Given the description of an element on the screen output the (x, y) to click on. 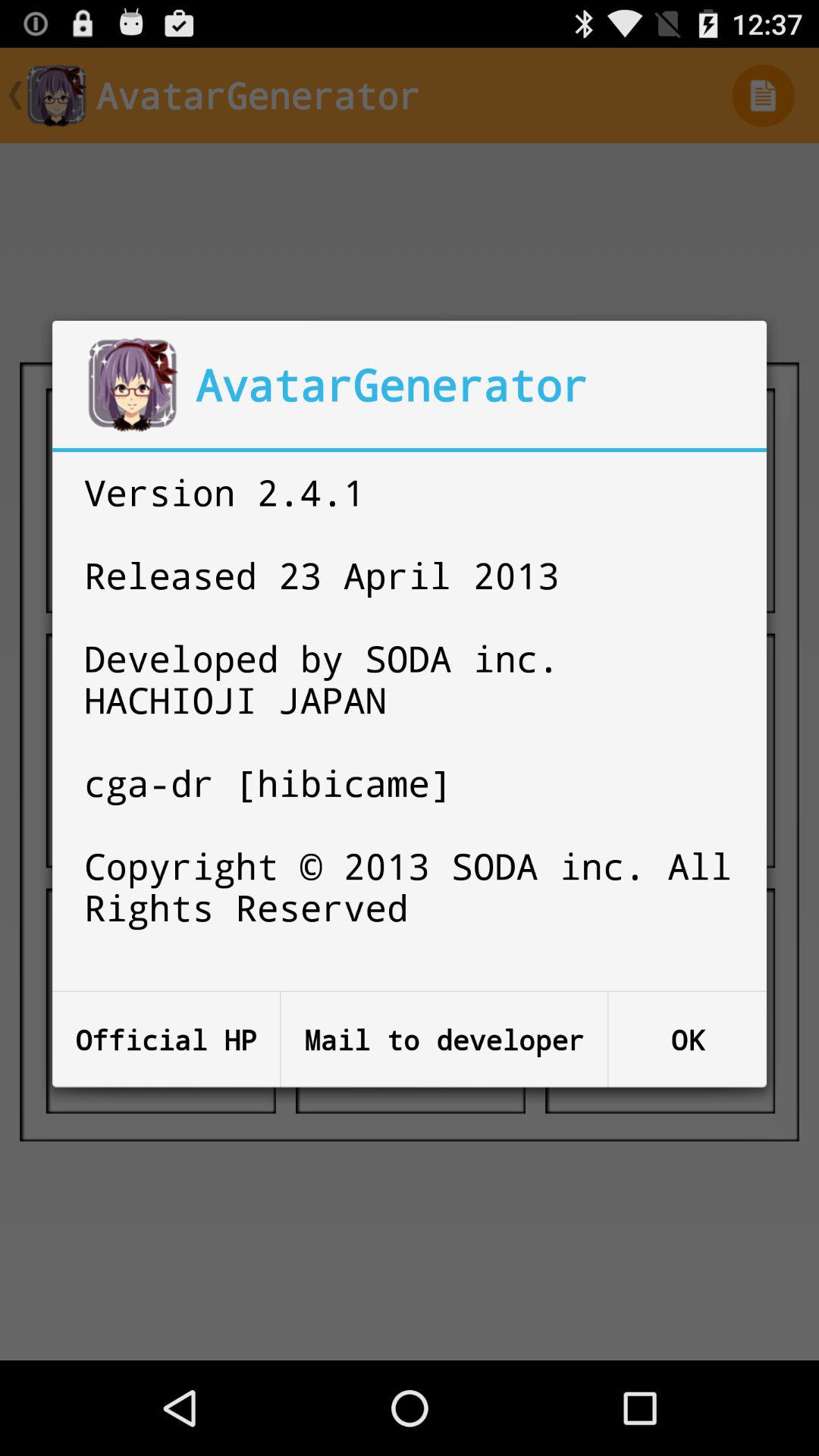
swipe to mail to developer icon (443, 1039)
